Given the description of an element on the screen output the (x, y) to click on. 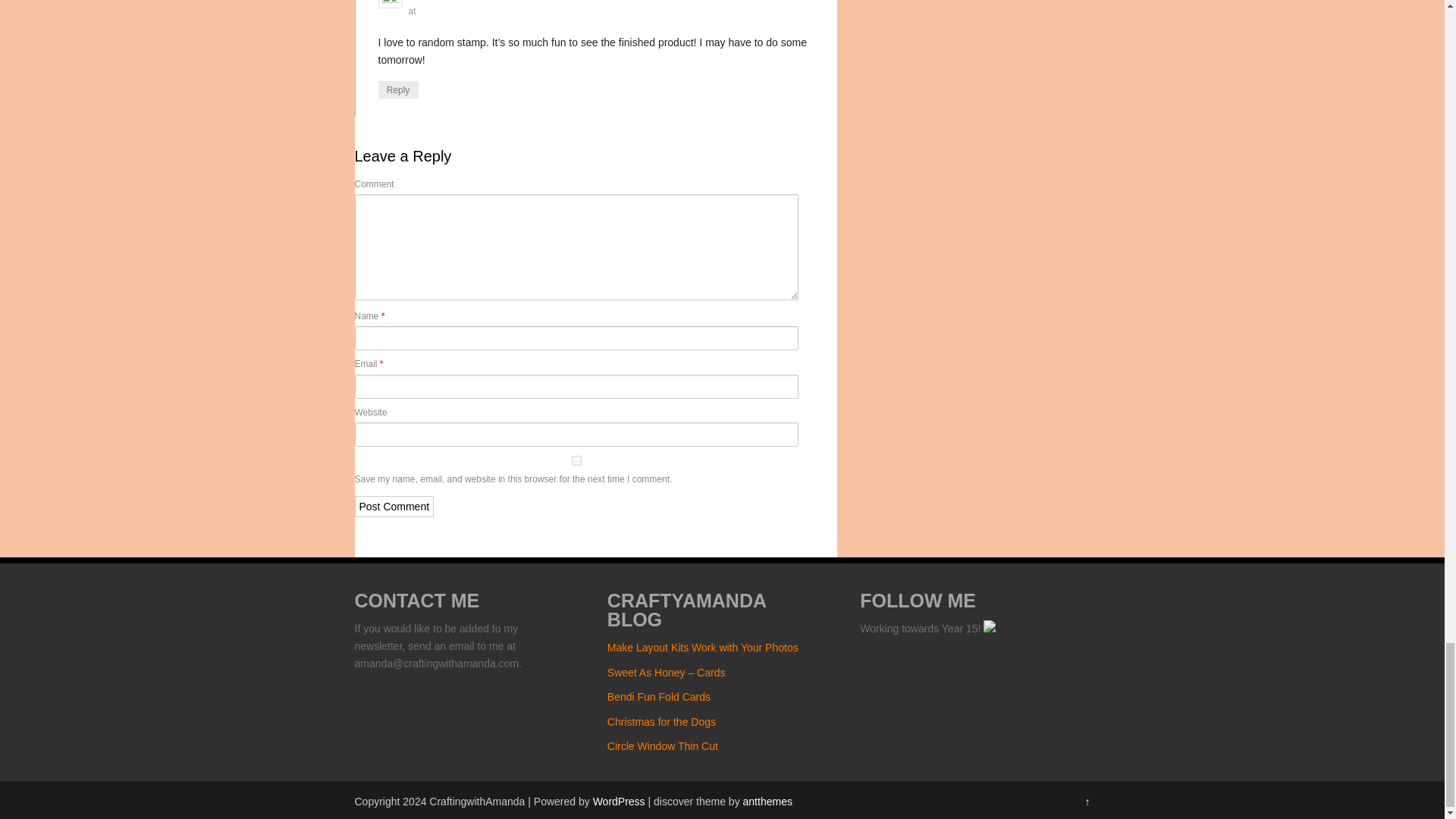
Post Comment (394, 506)
Post Comment (394, 506)
Reply (397, 89)
yes (577, 460)
